Given the description of an element on the screen output the (x, y) to click on. 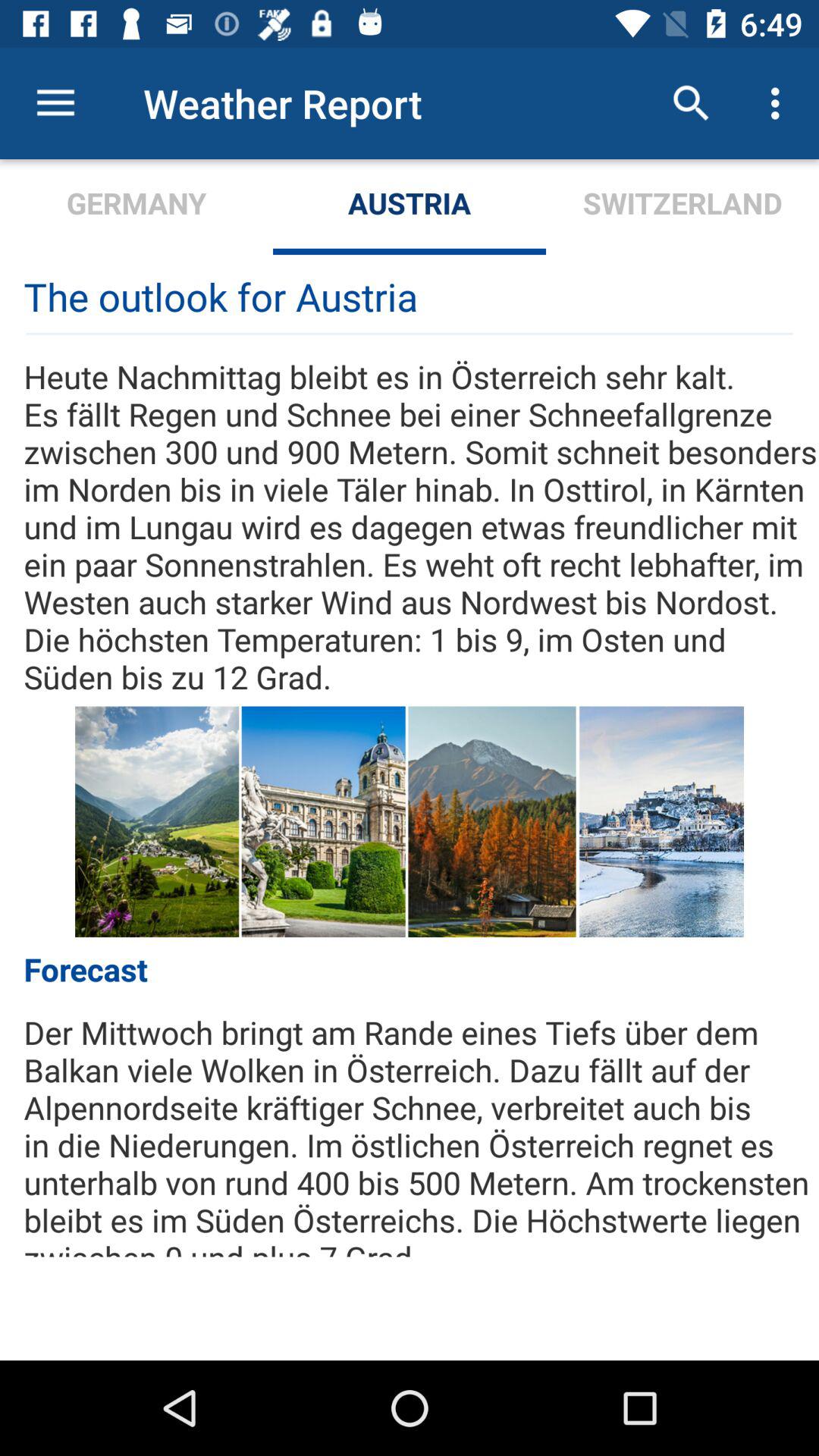
turn on the item above the switzerland (779, 103)
